Given the description of an element on the screen output the (x, y) to click on. 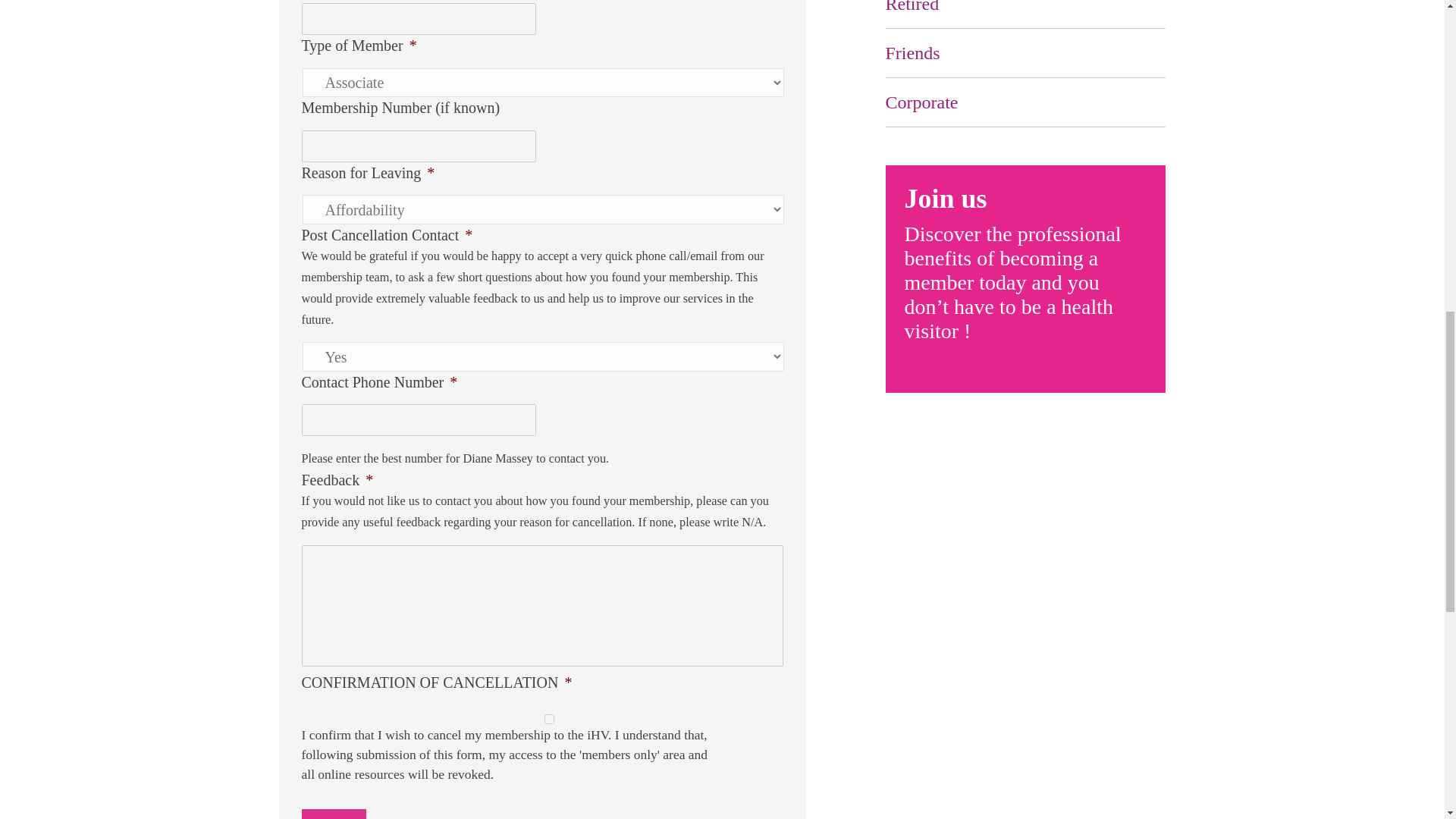
Submit (333, 814)
